Given the description of an element on the screen output the (x, y) to click on. 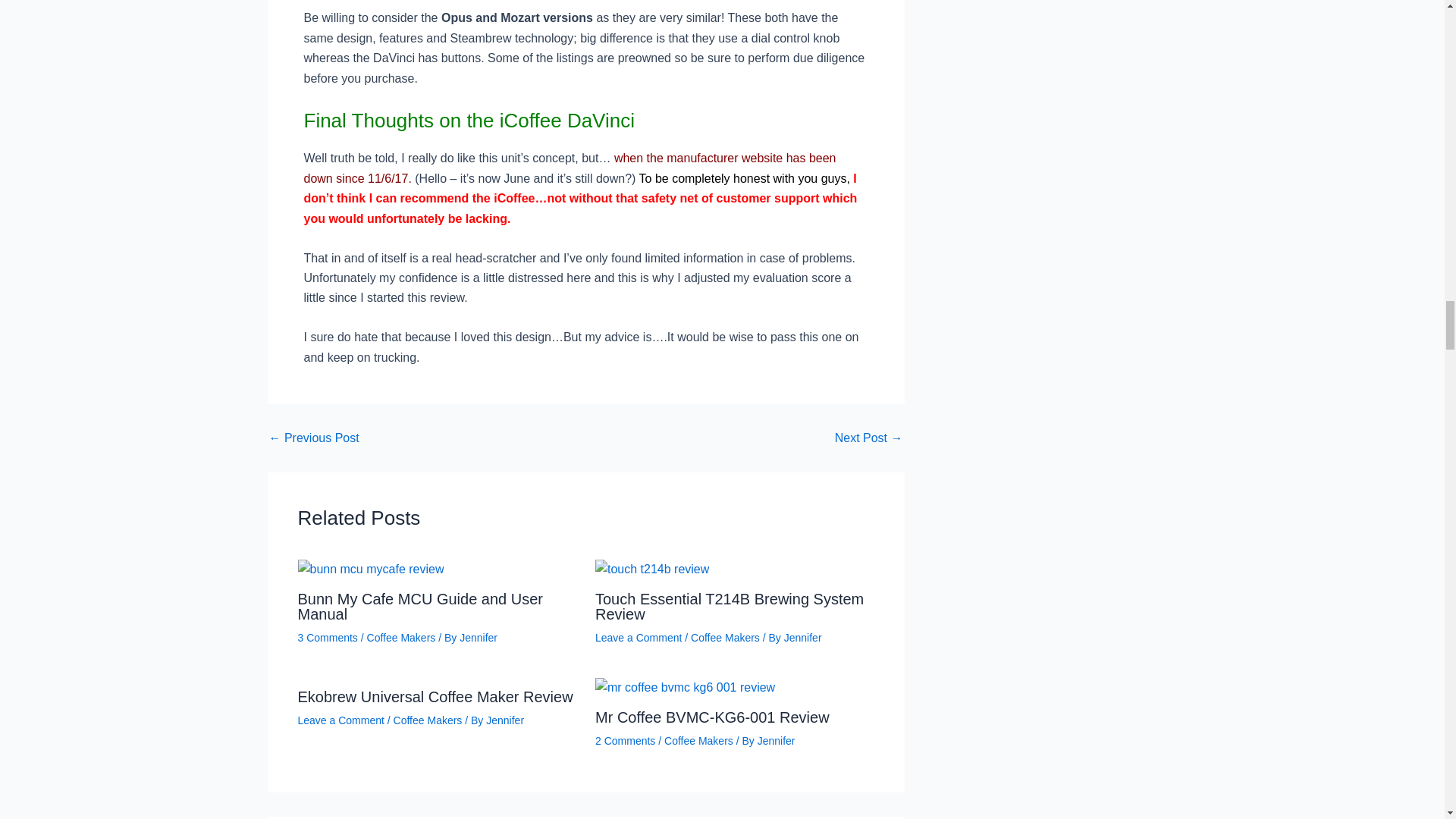
View all posts by Jennifer (478, 637)
View all posts by Jennifer (803, 637)
View all posts by Jennifer (505, 720)
A Guide To Industrial-Grade Single Cup Brewers (868, 438)
Cuisinart SS-5 Review (312, 438)
View all posts by Jennifer (775, 740)
